Given the description of an element on the screen output the (x, y) to click on. 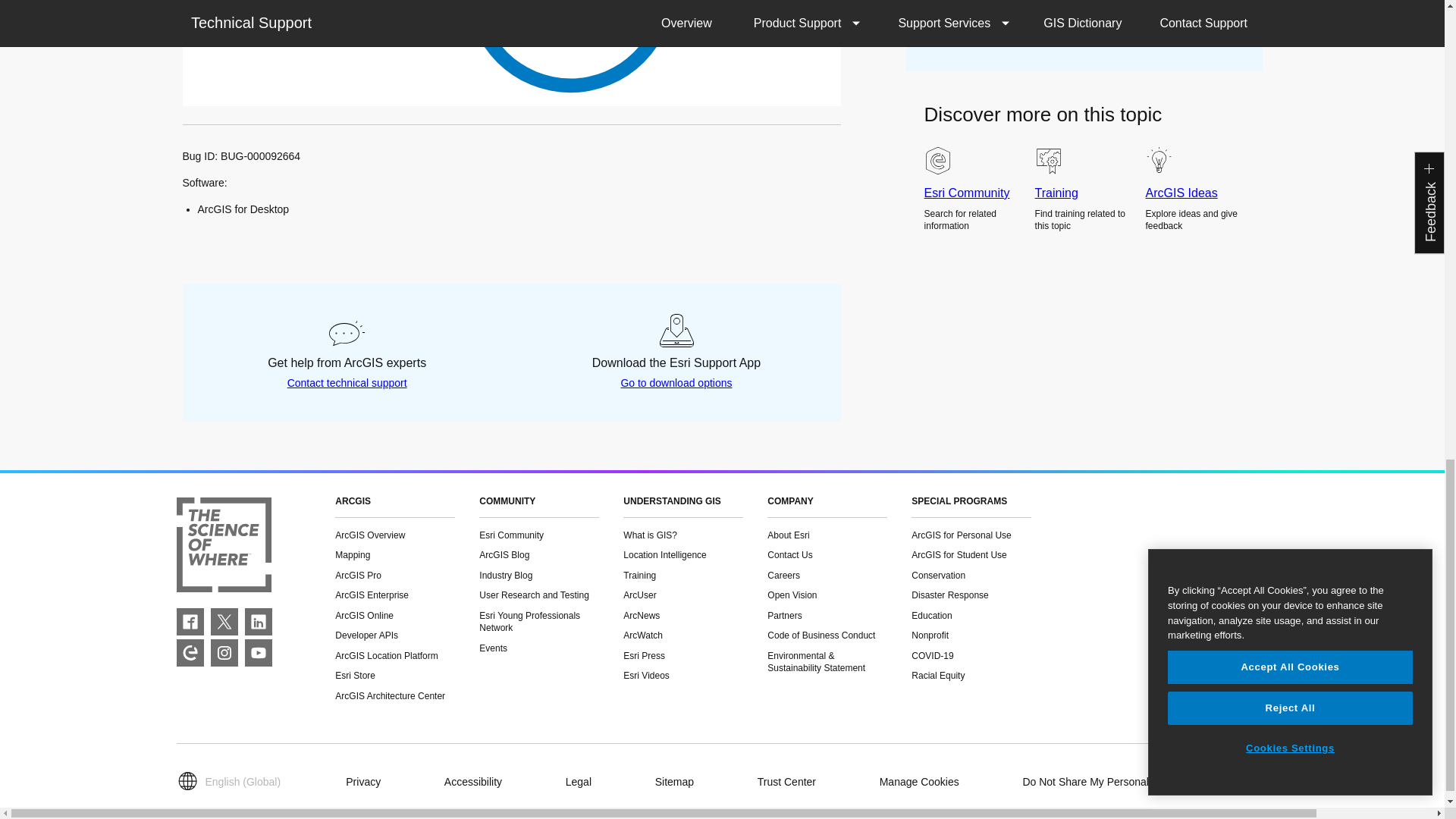
FacebookFacebook (189, 621)
Esri CommunityEsri Community (189, 652)
Facebook (189, 621)
InstagramInstagram (224, 652)
Reference element (563, 49)
More about Esri and the Science of Where (223, 547)
LinkedInLinkedIn (257, 621)
TwitterTwitter (224, 621)
